Given the description of an element on the screen output the (x, y) to click on. 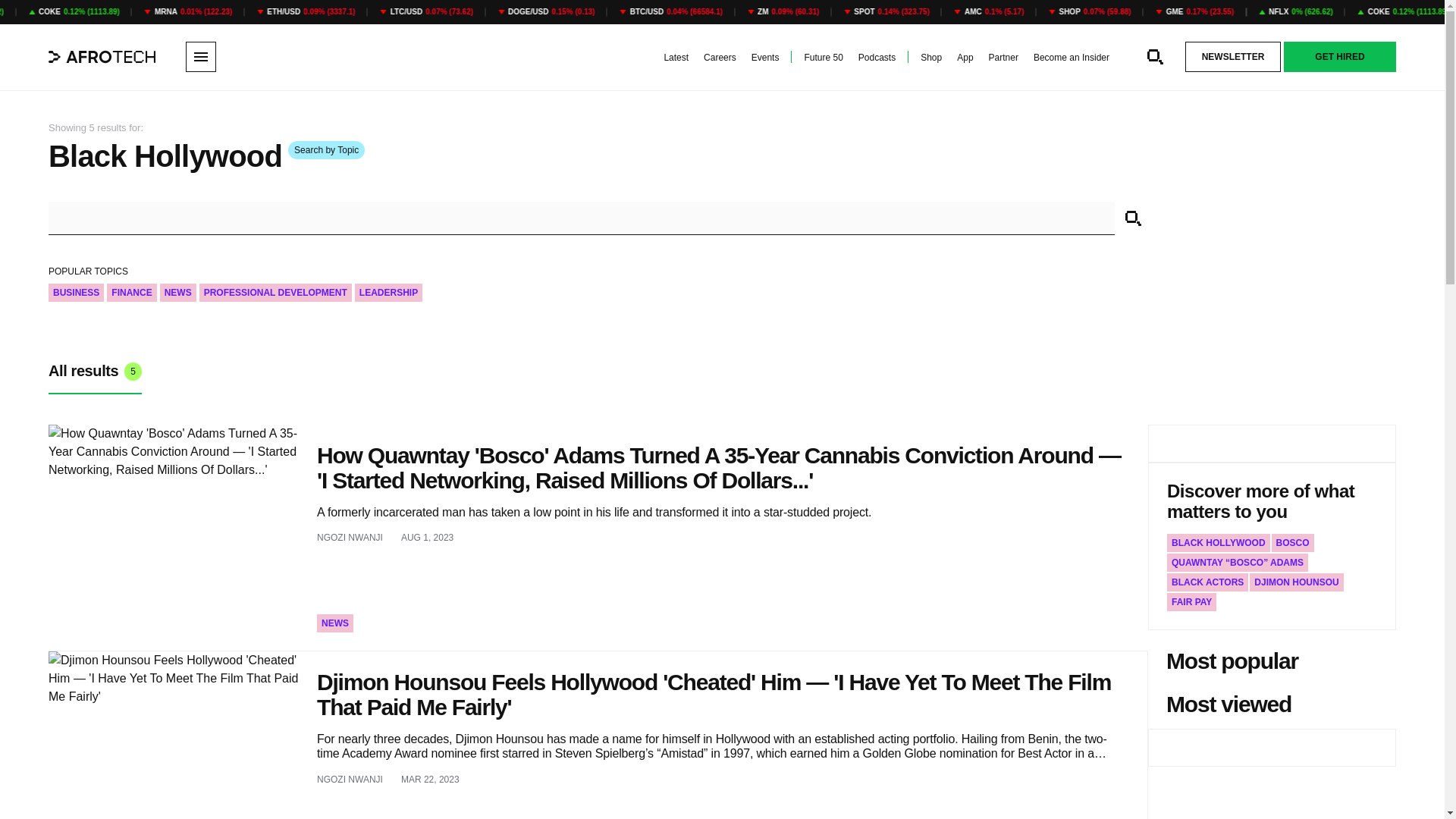
App (964, 57)
FINANCE (130, 292)
BUSINESS (75, 292)
Future 50 (823, 57)
Shop (931, 57)
GET HIRED (1340, 56)
NEWS (335, 623)
Become an Insider (1071, 57)
PROFESSIONAL DEVELOPMENT (275, 292)
Events (764, 57)
Latest (675, 57)
NGOZI NWANJI (349, 537)
Careers (719, 57)
Podcasts (877, 57)
Partner (1002, 57)
